Given the description of an element on the screen output the (x, y) to click on. 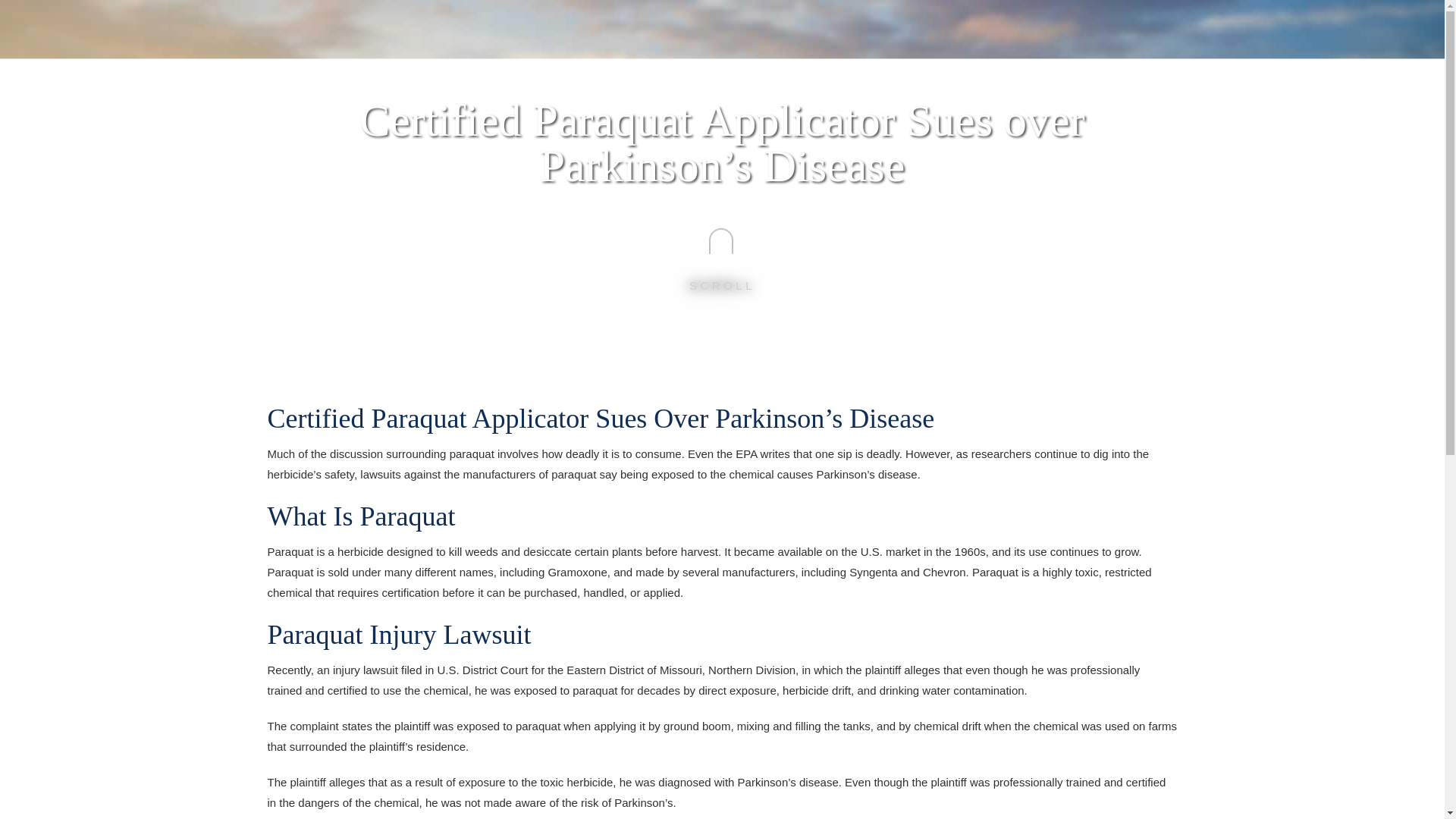
SCROLL (722, 256)
